Given the description of an element on the screen output the (x, y) to click on. 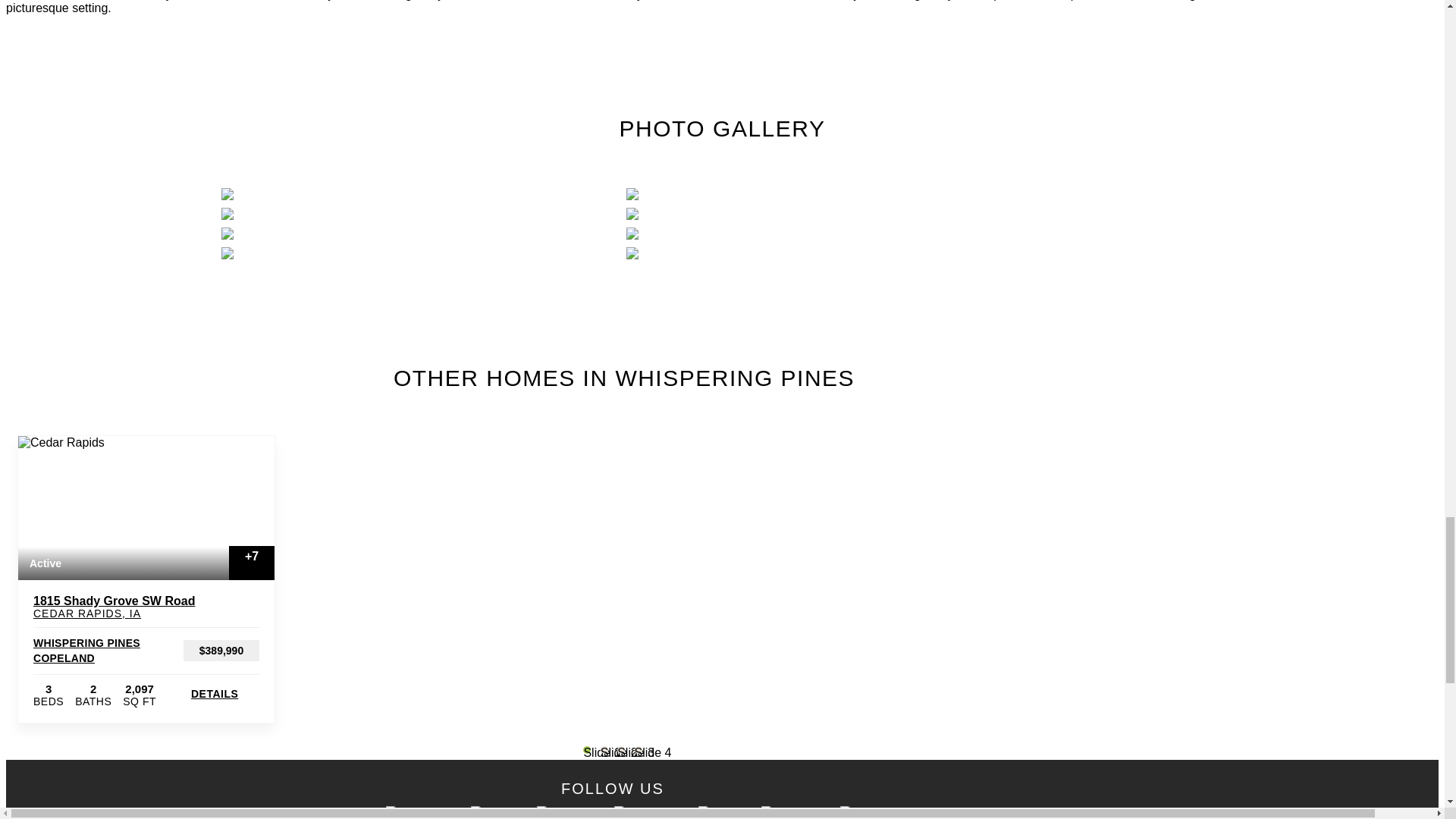
DETAILS (224, 693)
COPELAND (63, 657)
Map This Home (254, 603)
WHISPERING PINES (86, 643)
